Given the description of an element on the screen output the (x, y) to click on. 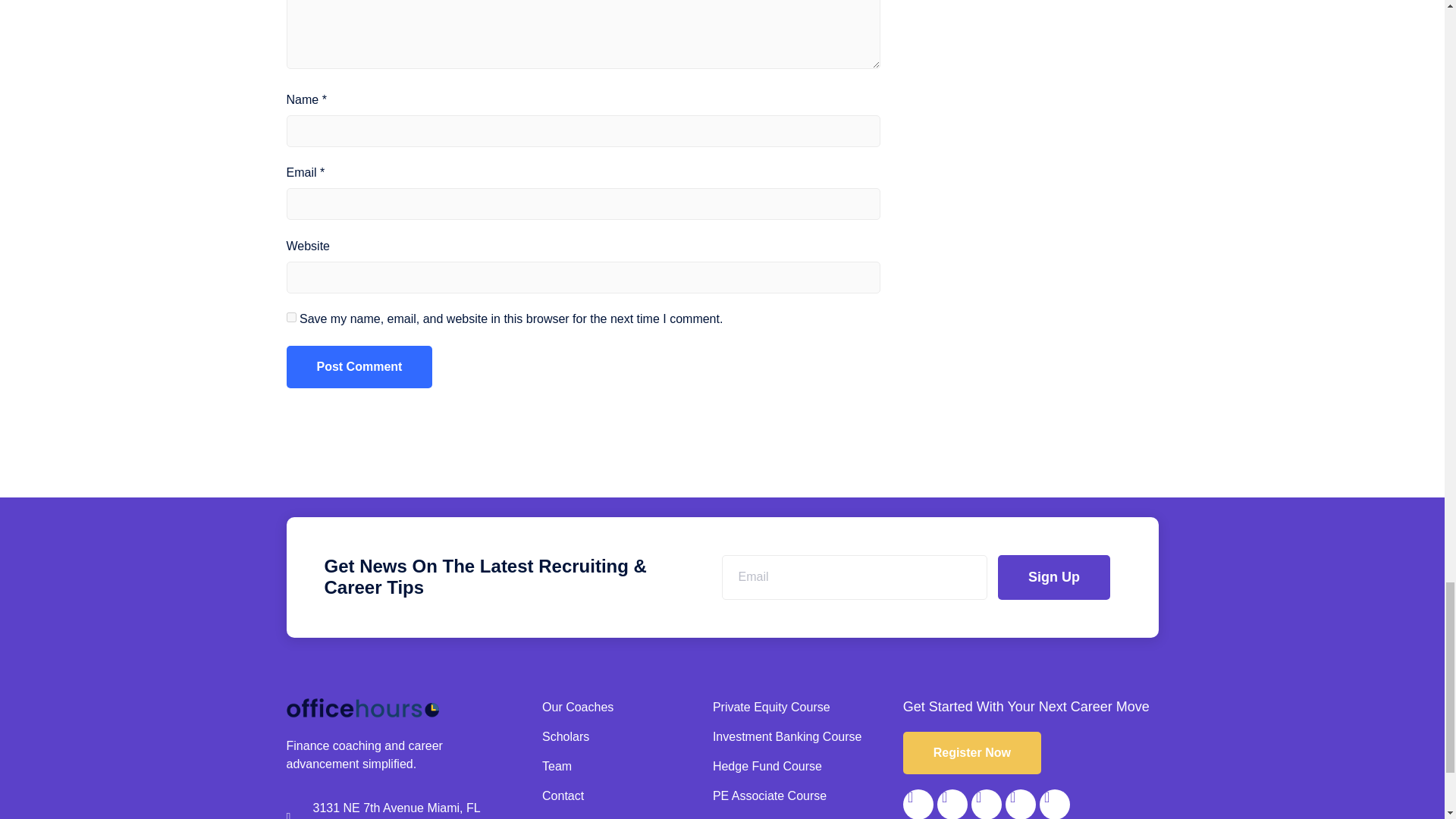
Post Comment (359, 366)
Post Comment (359, 366)
yes (291, 317)
